Given the description of an element on the screen output the (x, y) to click on. 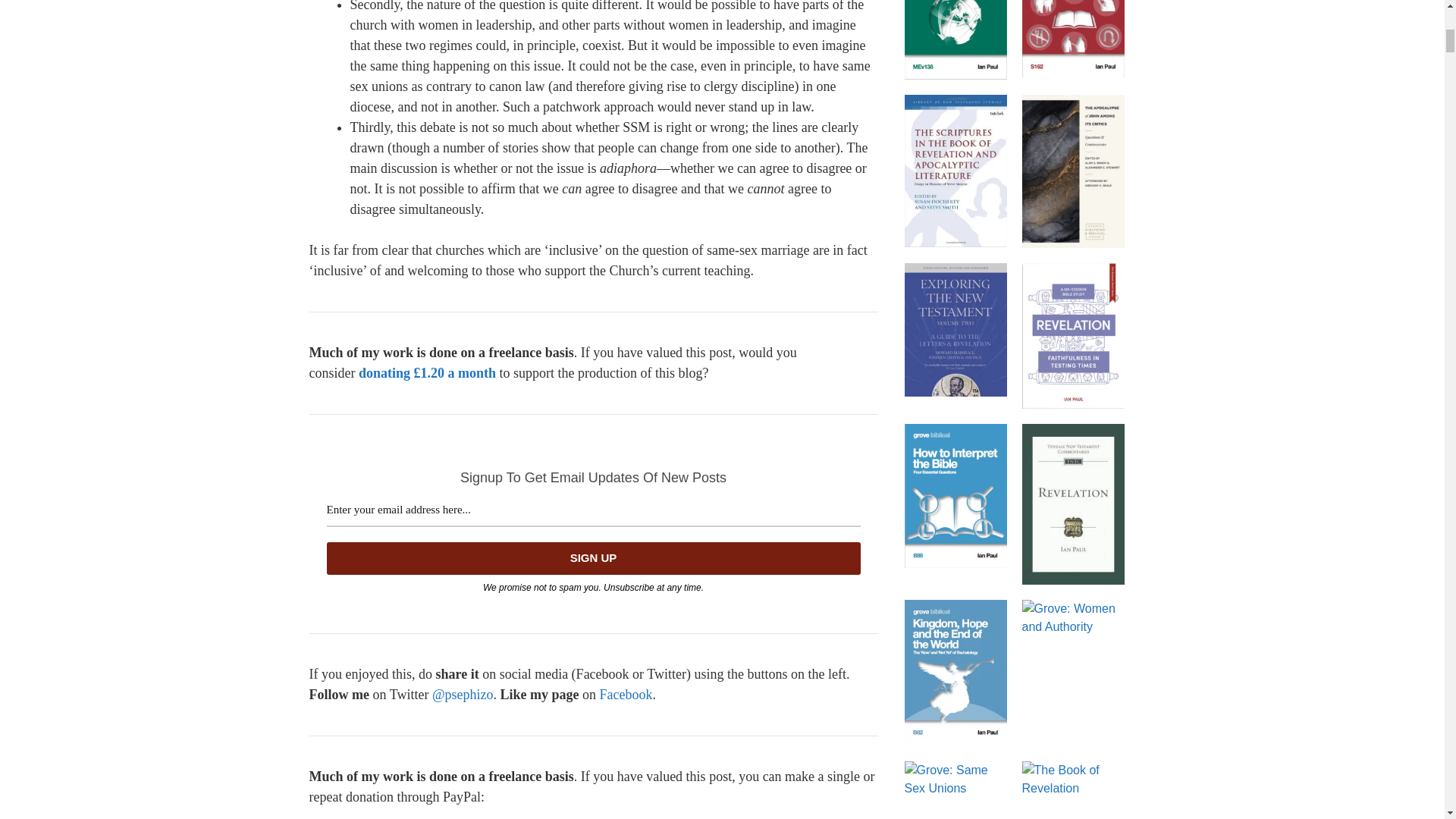
Sign Up (593, 558)
Sign Up (593, 558)
Facebook (625, 694)
